Given the description of an element on the screen output the (x, y) to click on. 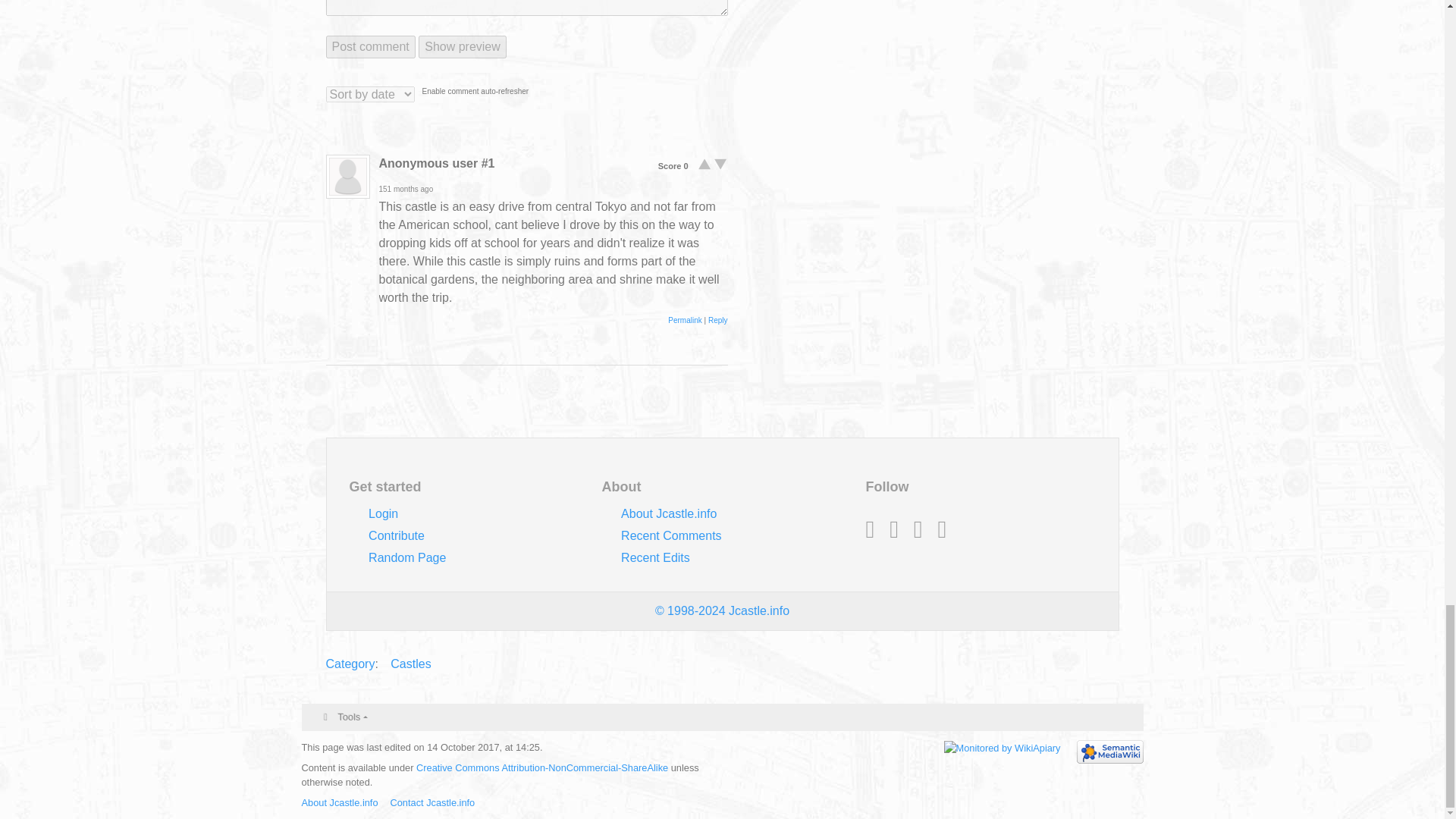
Post comment (370, 47)
Show preview (462, 47)
